Given the description of an element on the screen output the (x, y) to click on. 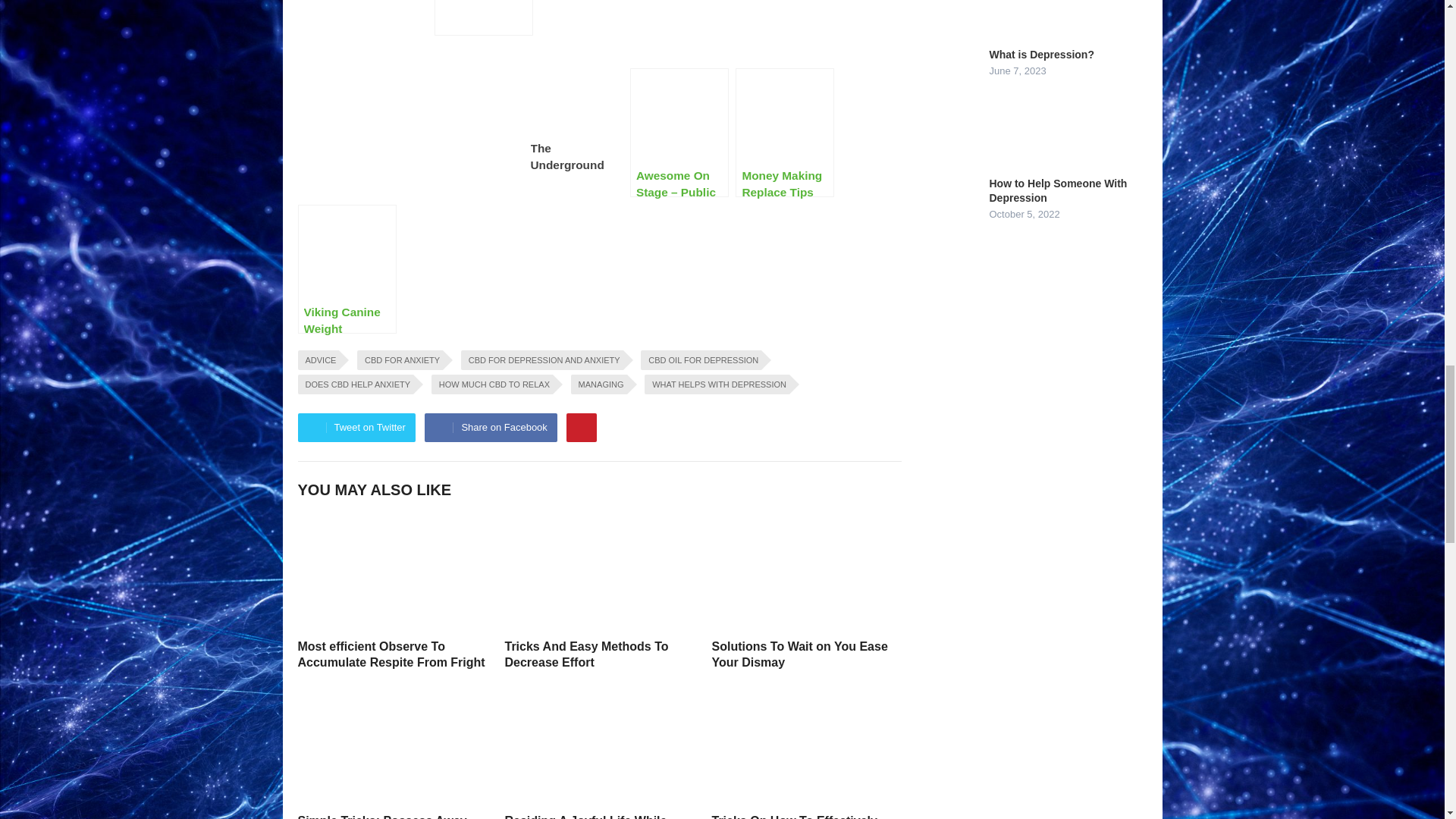
DOES CBD HELP ANXIETY (355, 383)
CBD OIL FOR DEPRESSION (700, 360)
Share on Facebook (490, 427)
CBD FOR DEPRESSION AND ANXIETY (542, 360)
HOW MUCH CBD TO RELAX (491, 383)
The Underground Paunchy Burner Supplement (482, 18)
MANAGING (598, 383)
WHAT HELPS WITH DEPRESSION (717, 383)
Tweet on Twitter (355, 427)
ADVICE (318, 360)
CBD FOR ANXIETY (399, 360)
